Given the description of an element on the screen output the (x, y) to click on. 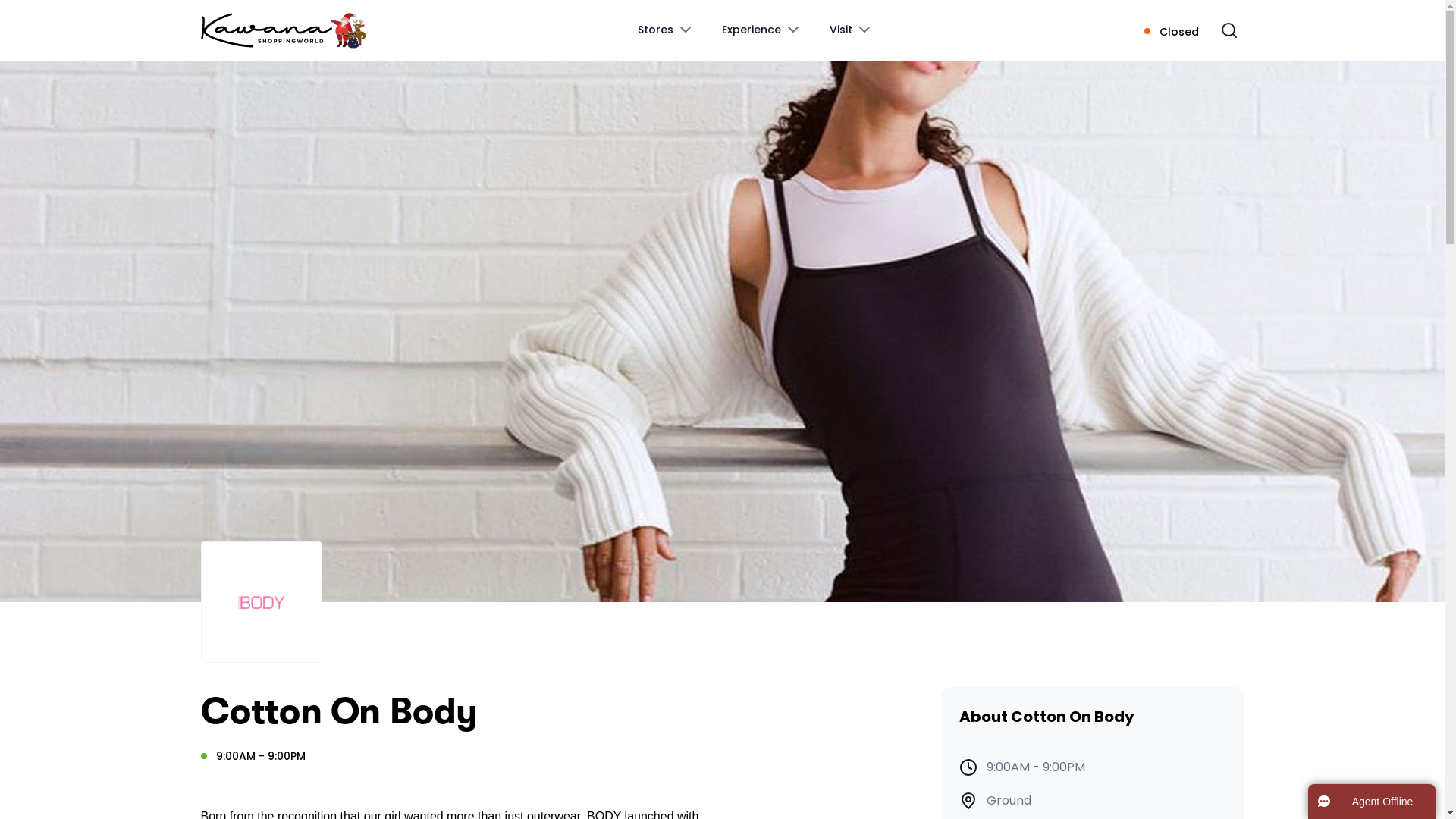
Visit Element type: text (851, 30)
Stores Element type: text (664, 30)
Experience Element type: text (761, 30)
Cotton On Body  Element type: hover (722, 331)
